Given the description of an element on the screen output the (x, y) to click on. 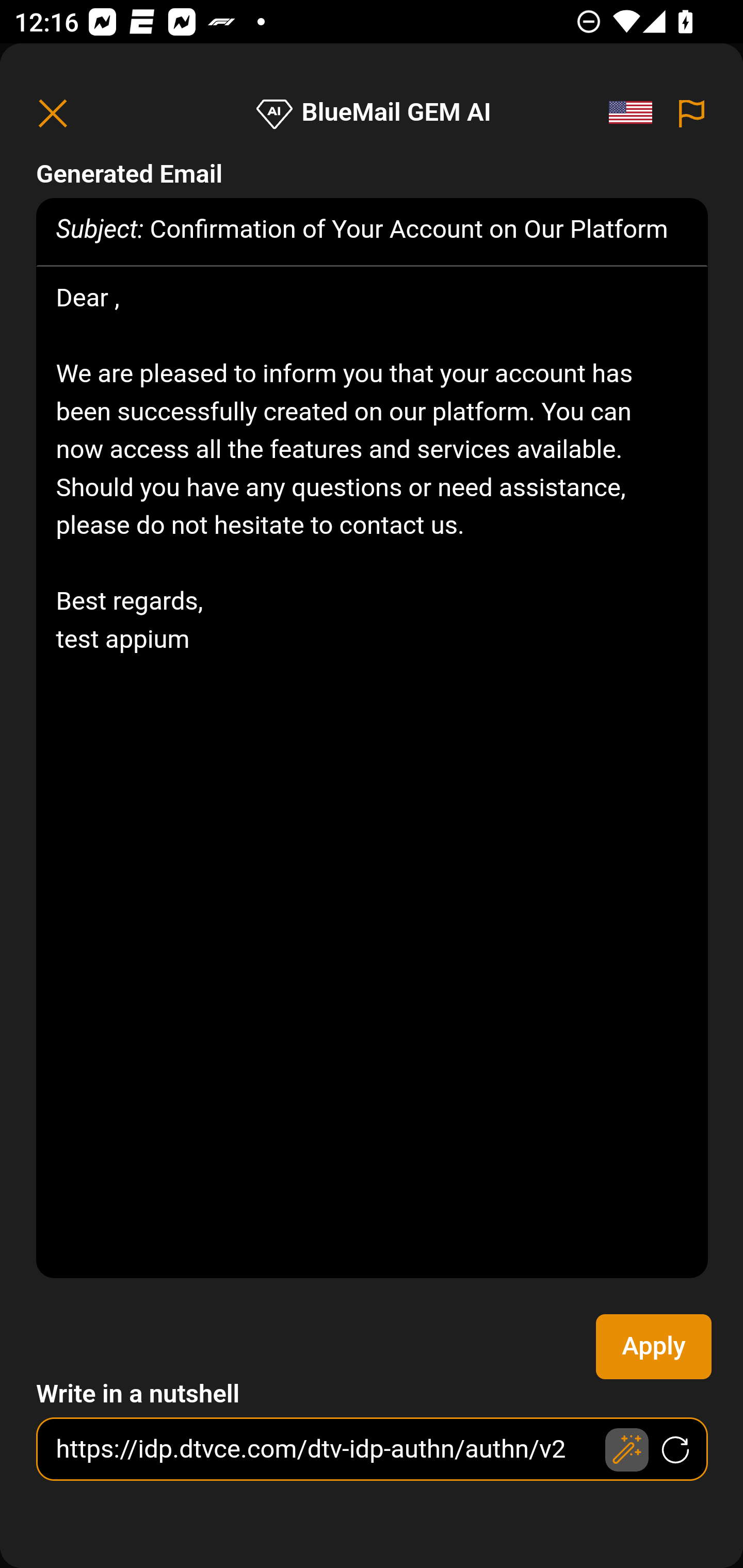
svg%3e (636, 113)
Report (692, 113)
Apply (654, 1346)
https://idp.dtvce.com/dtv-idp-authn/authn/v2 (372, 1449)
Regenerate (675, 1450)
